Given the description of an element on the screen output the (x, y) to click on. 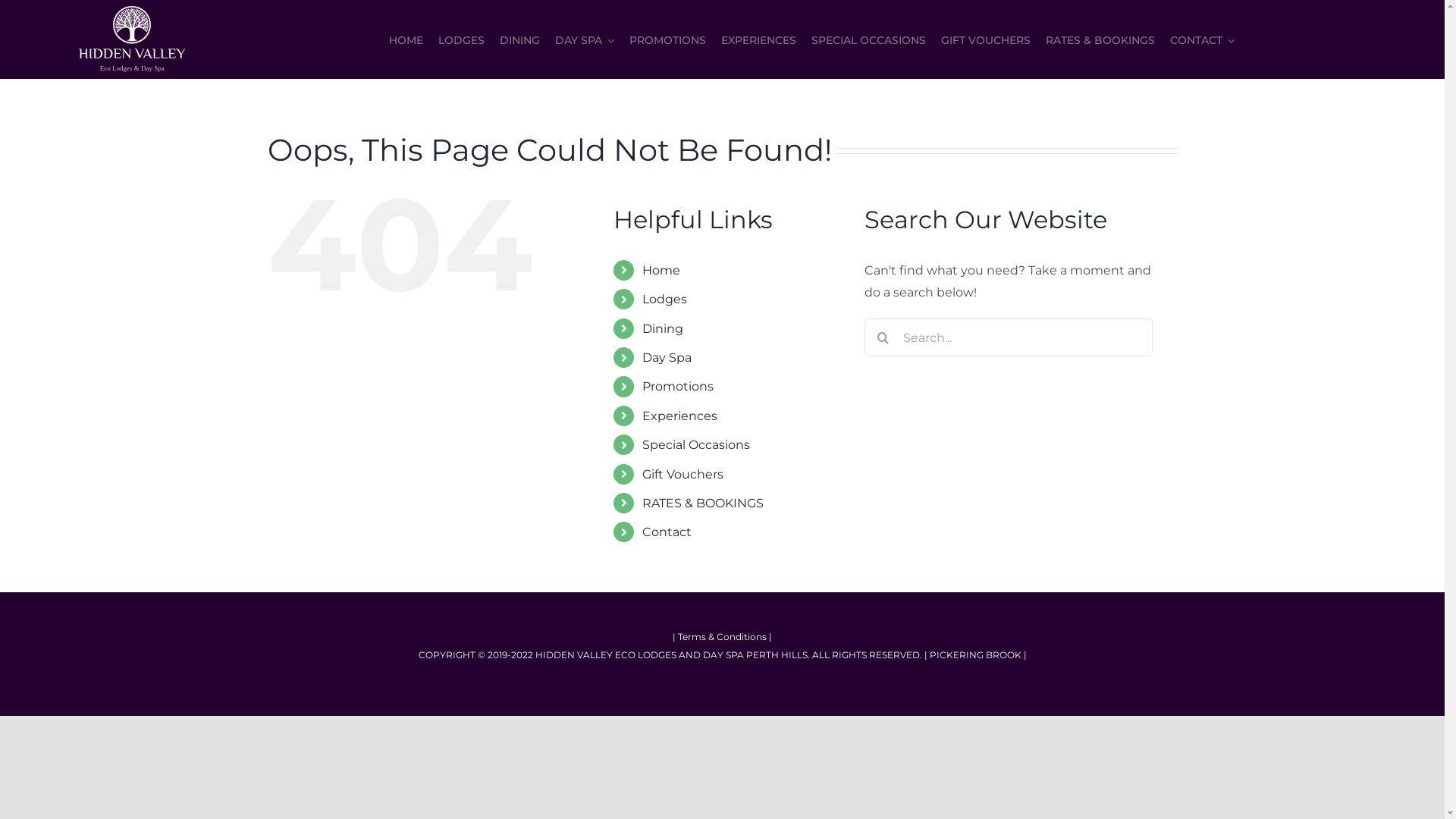
RATES & BOOKINGS Element type: text (702, 502)
Promotions Element type: text (677, 386)
Special Occasions Element type: text (695, 444)
Day Spa Element type: text (666, 357)
Dining Element type: text (662, 328)
EXPERIENCES Element type: text (758, 39)
PROMOTIONS Element type: text (667, 39)
GIFT VOUCHERS Element type: text (985, 39)
Experiences Element type: text (679, 415)
DINING Element type: text (519, 39)
RATES & BOOKINGS Element type: text (1100, 39)
CONTACT Element type: text (1202, 39)
LODGES Element type: text (461, 39)
Gift Vouchers Element type: text (682, 474)
Lodges Element type: text (664, 298)
DAY SPA Element type: text (584, 39)
SPECIAL OCCASIONS Element type: text (868, 39)
HOME Element type: text (405, 39)
Contact Element type: text (666, 531)
Home Element type: text (661, 270)
